Given the description of an element on the screen output the (x, y) to click on. 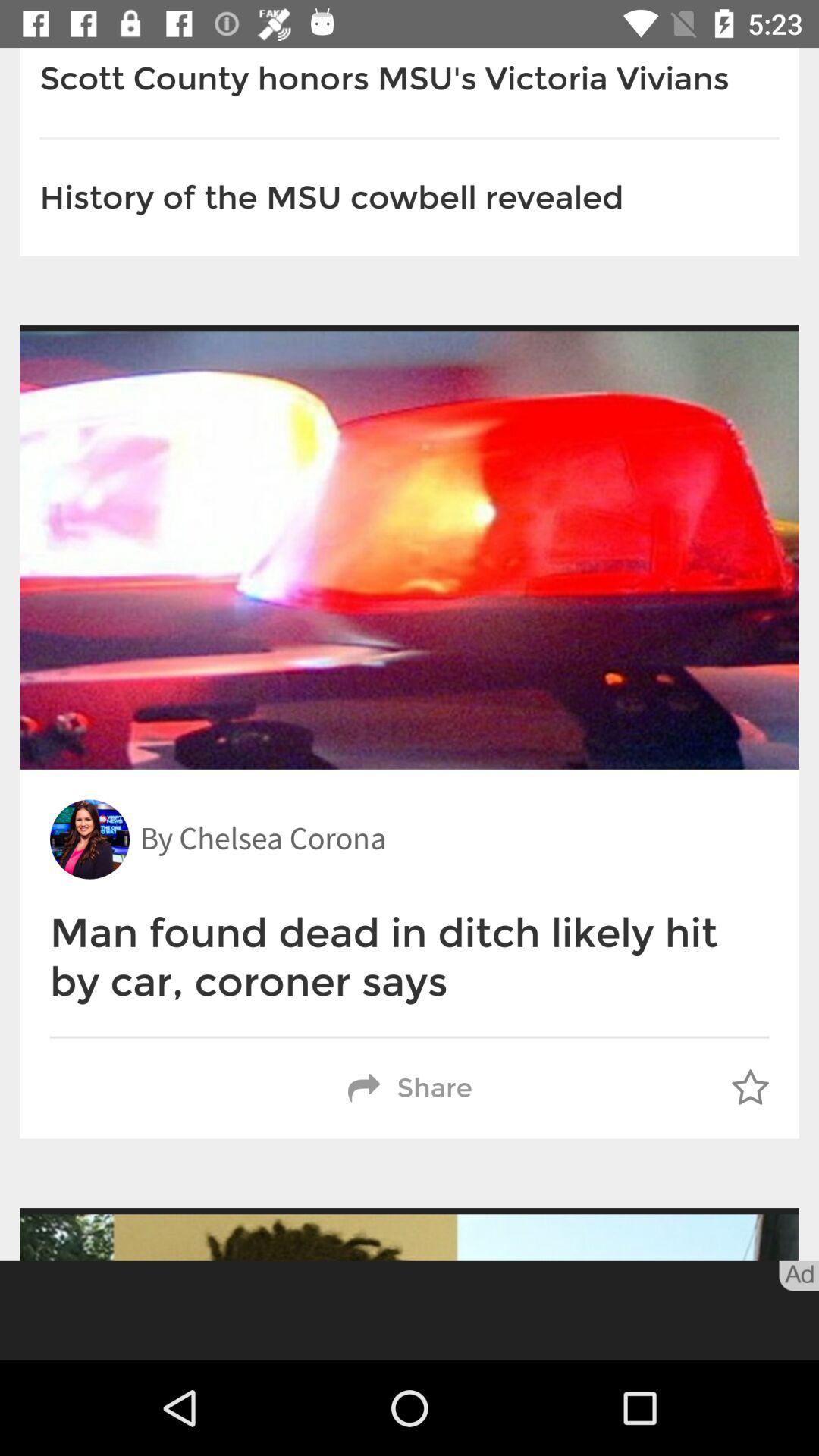
press the icon above the man found dead item (89, 839)
